Given the description of an element on the screen output the (x, y) to click on. 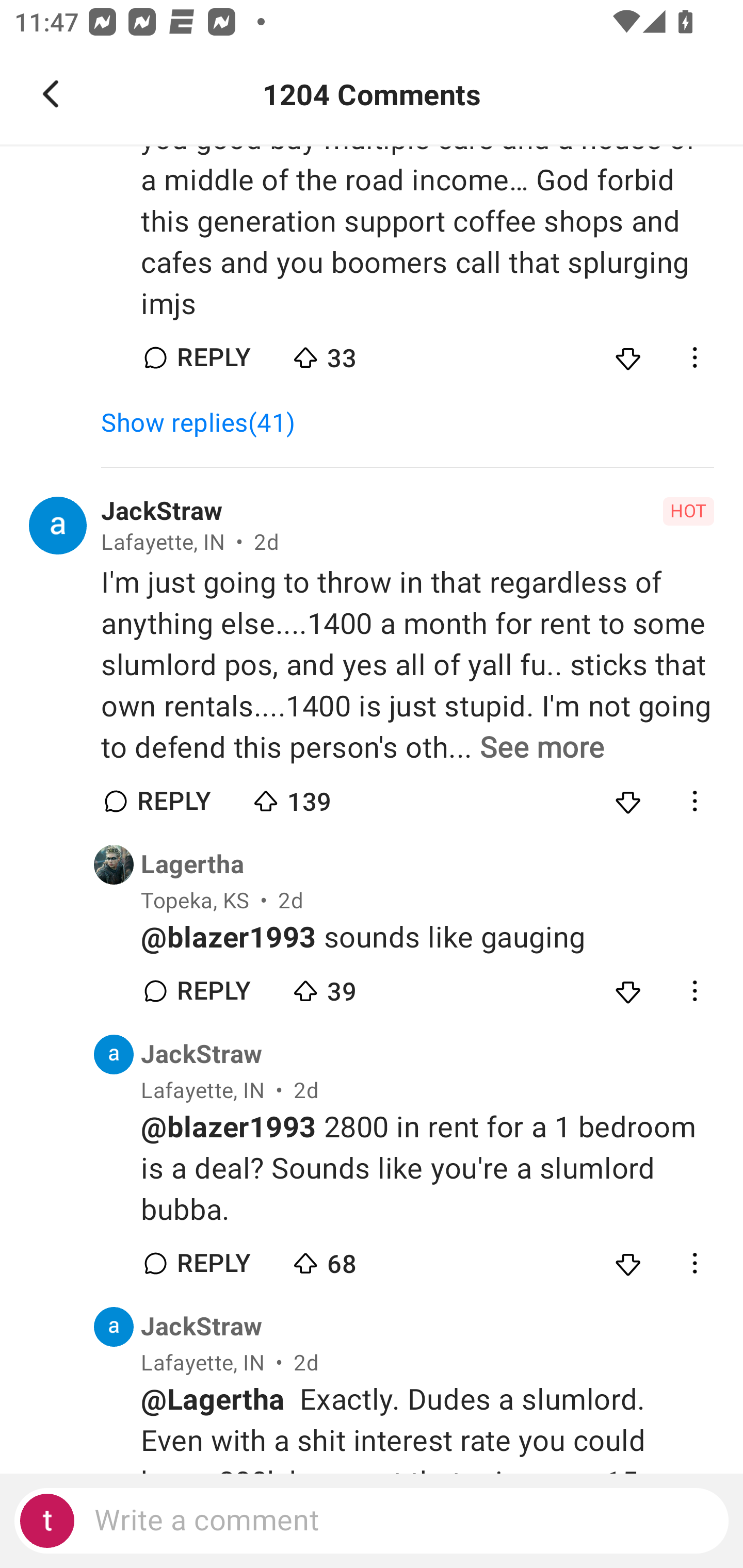
Navigate up (50, 93)
33 (360, 353)
REPLY (213, 358)
Show replies(41) (207, 422)
JackStraw (161, 511)
139 (320, 797)
REPLY (173, 801)
Lagertha (192, 864)
@blazer1993 sounds like gauging (427, 937)
39 (360, 986)
REPLY (213, 990)
JackStraw (201, 1054)
68 (360, 1258)
REPLY (213, 1263)
JackStraw (201, 1327)
Write a comment (371, 1520)
